Given the description of an element on the screen output the (x, y) to click on. 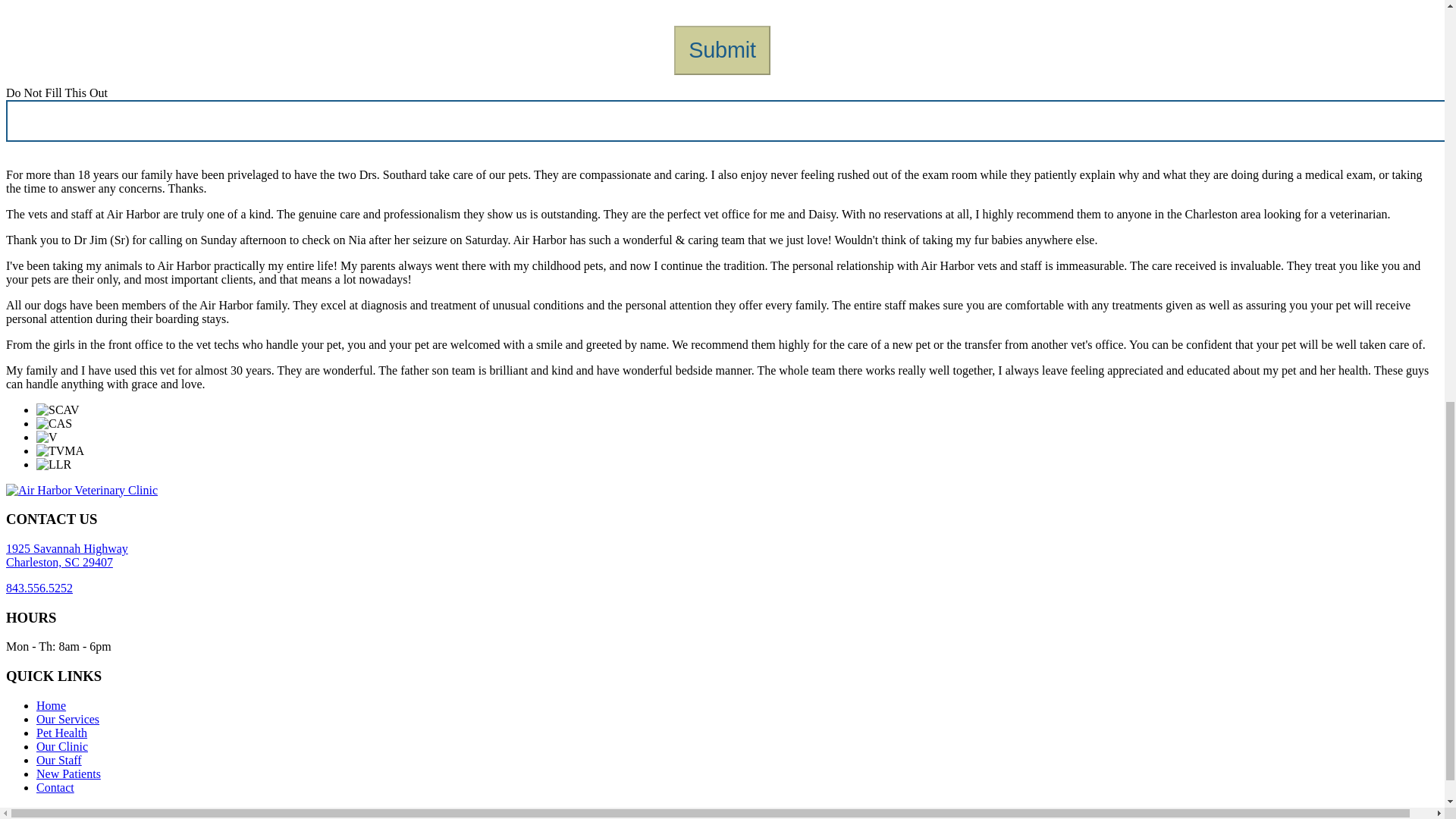
Submit (722, 50)
Pet Health (61, 732)
843.556.5252 (38, 587)
Our Clinic (61, 746)
Contact (66, 555)
Our Services (55, 787)
Submit (67, 718)
Home (722, 50)
New Patients (50, 705)
Our Staff (68, 773)
